Given the description of an element on the screen output the (x, y) to click on. 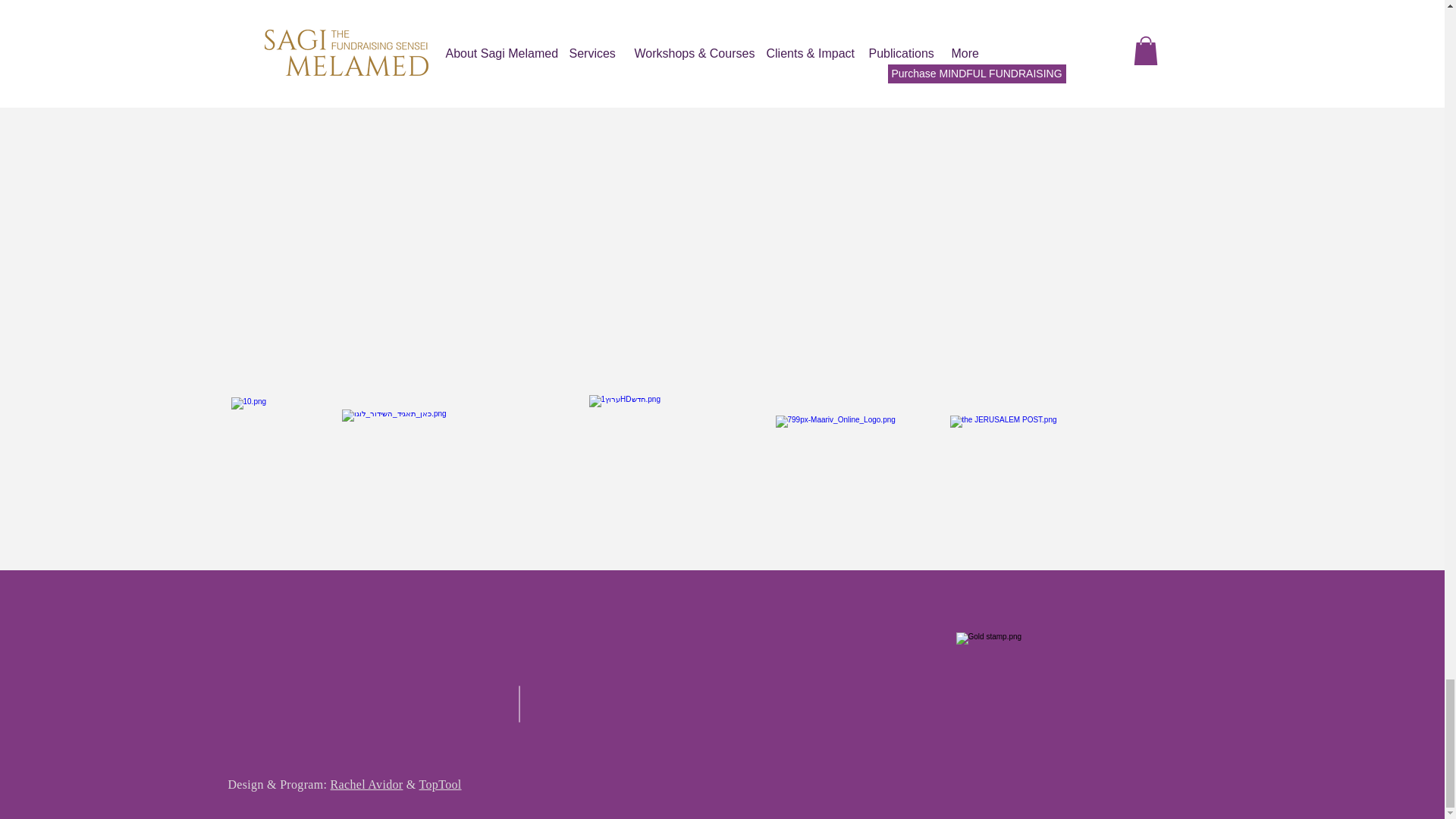
TopTool (440, 784)
Rachel Avidor (366, 784)
